Given the description of an element on the screen output the (x, y) to click on. 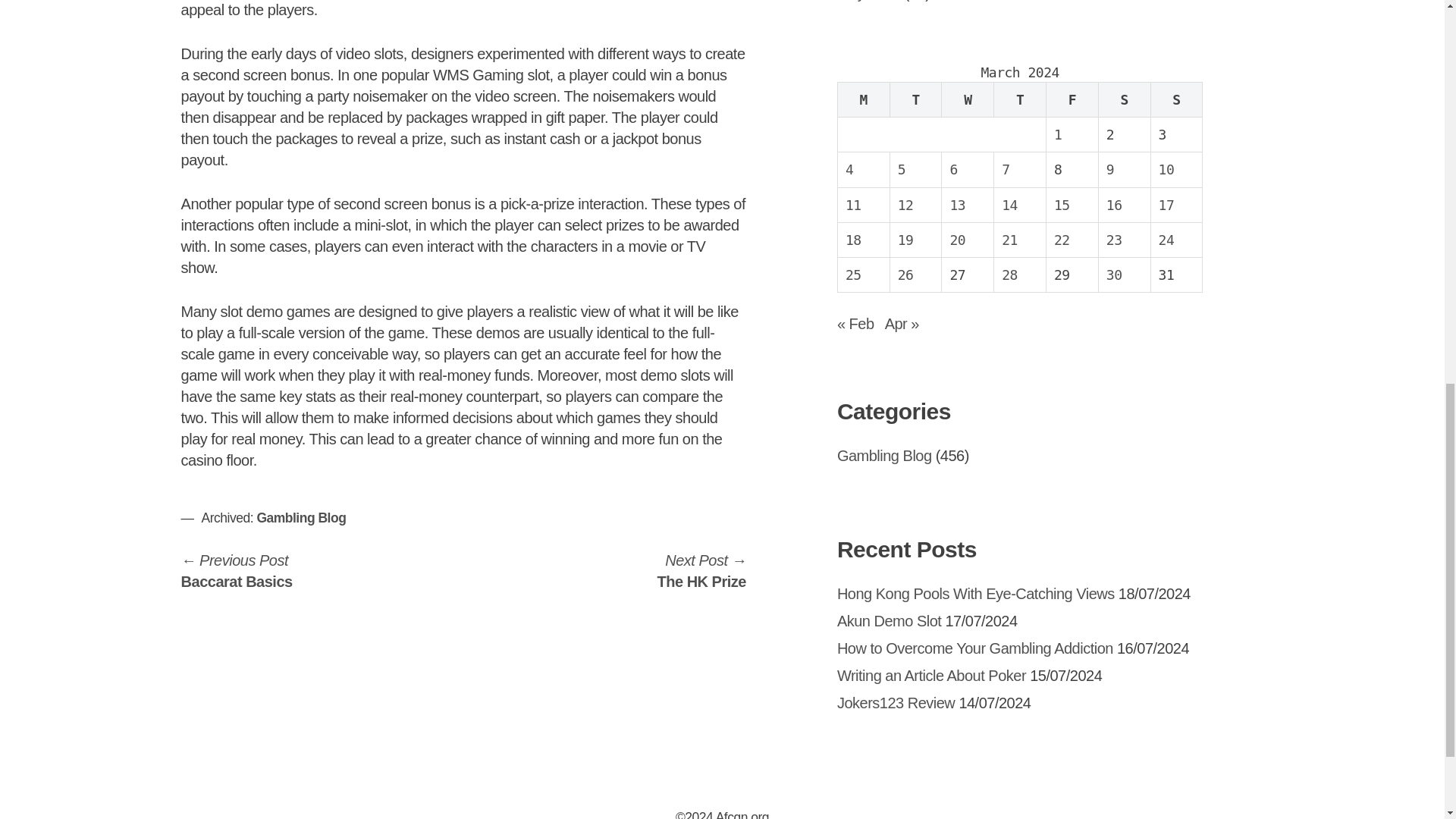
14 (1009, 204)
15 (1062, 204)
10 (1166, 169)
Saturday (1123, 99)
May 2023 (869, 0)
17 (1166, 204)
Monday (863, 99)
13 (957, 204)
Wednesday (968, 99)
16 (1114, 204)
Friday (701, 570)
11 (1072, 99)
12 (853, 204)
Sunday (906, 204)
